Given the description of an element on the screen output the (x, y) to click on. 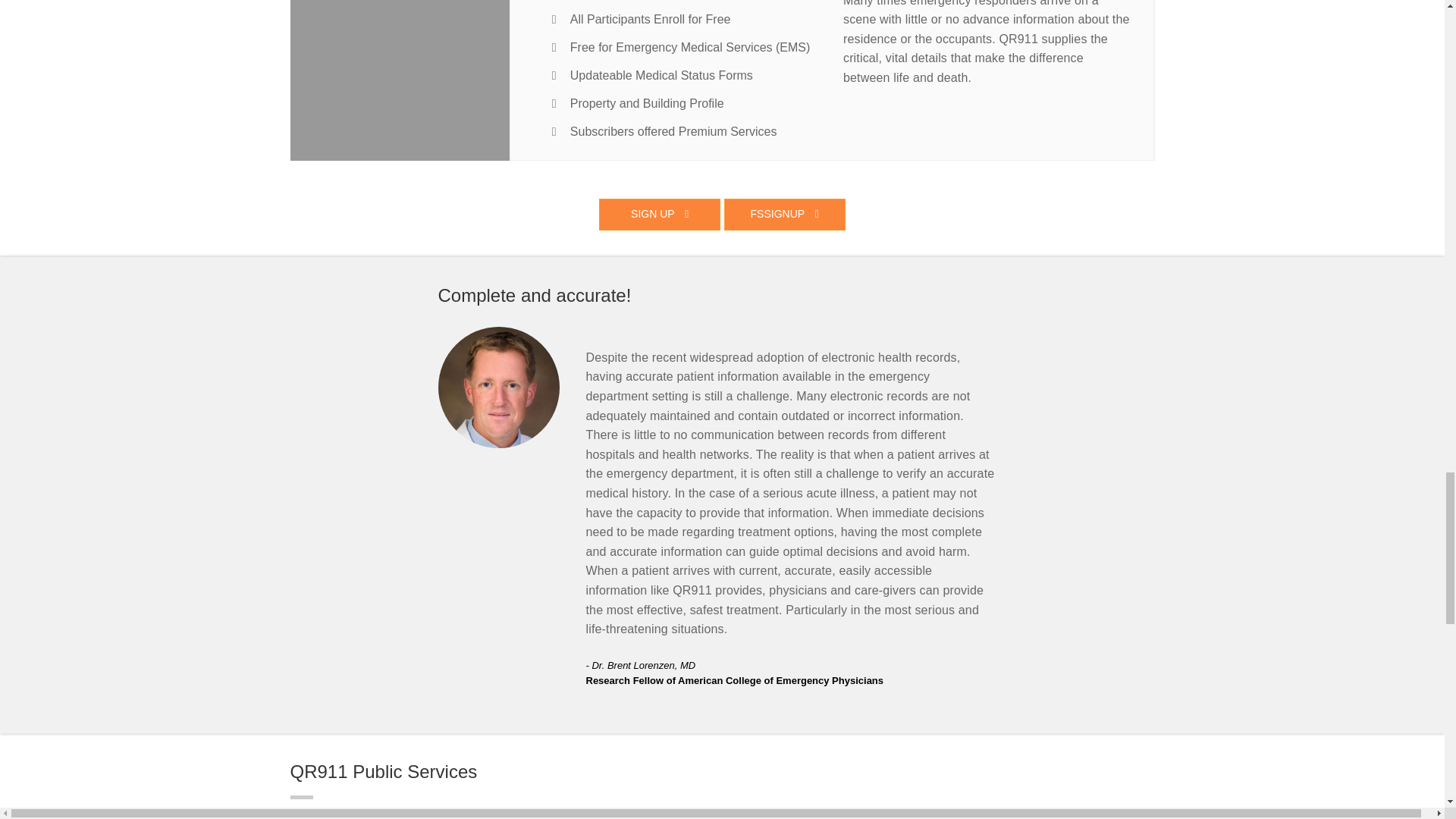
FSSIGNUP (784, 214)
Dr. Brent Lorenzen, MD (498, 386)
SIGN UP (659, 214)
